Given the description of an element on the screen output the (x, y) to click on. 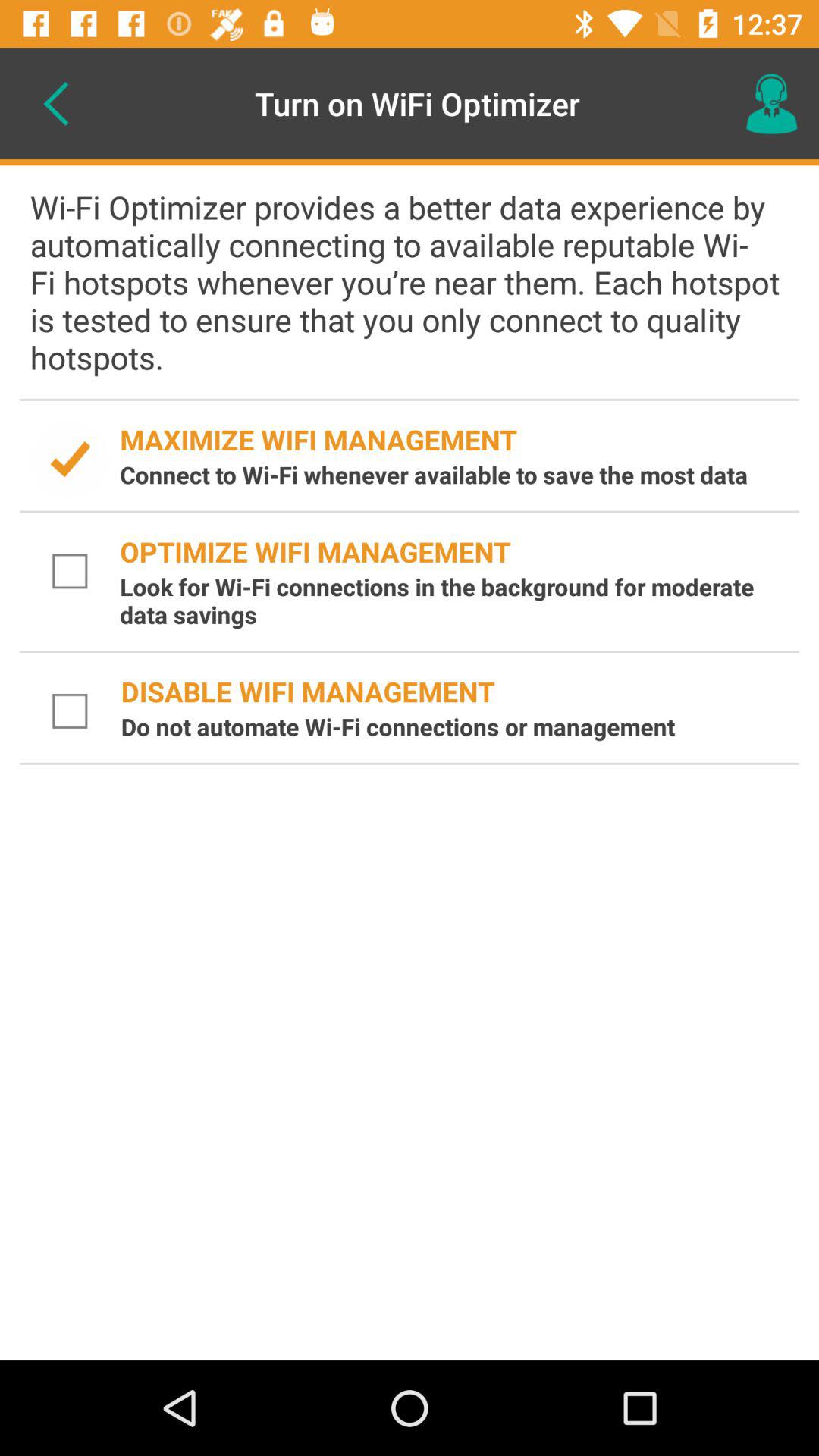
share the wifi (69, 459)
